Given the description of an element on the screen output the (x, y) to click on. 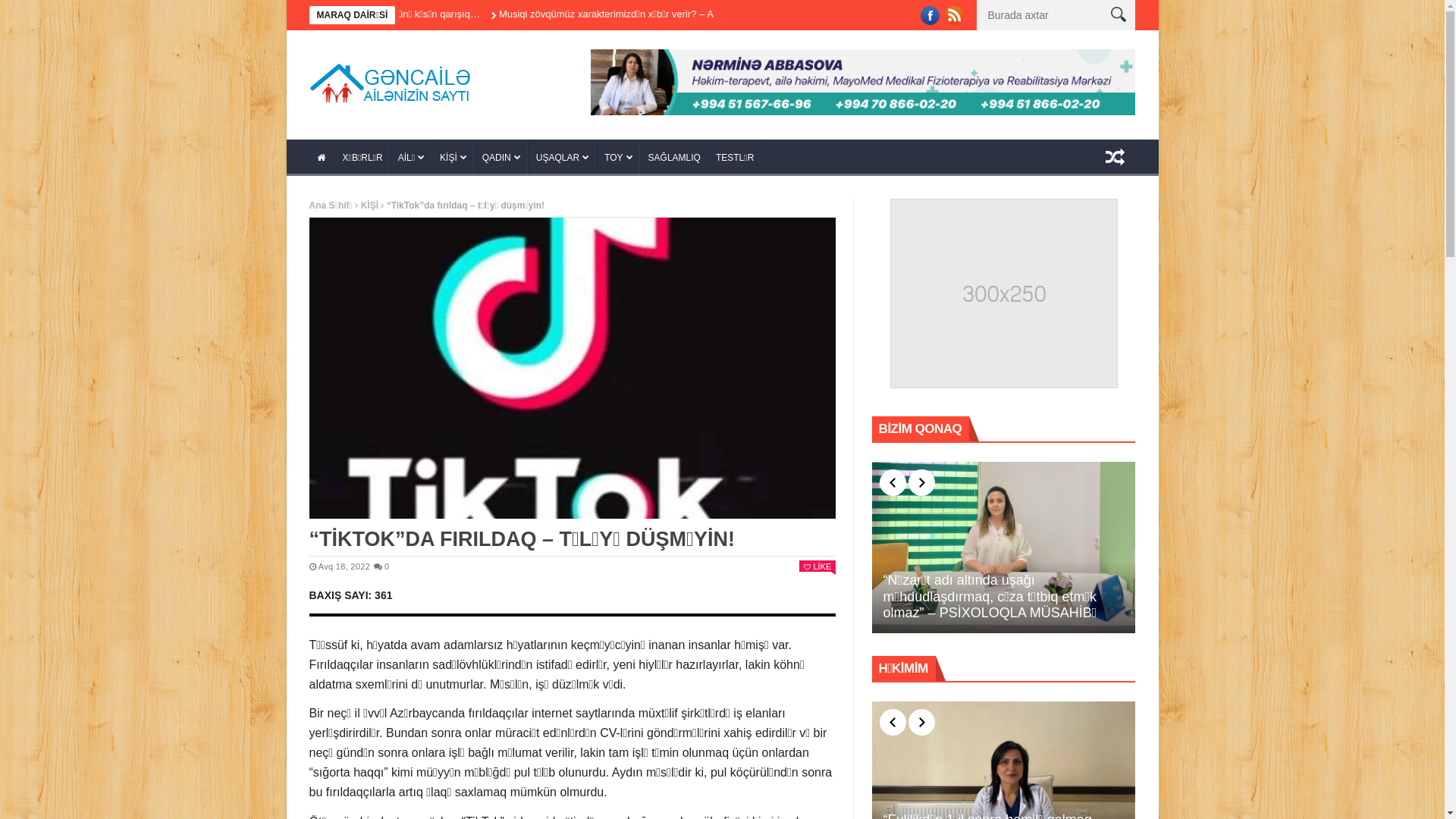
QADIN Element type: text (501, 157)
LIKE Element type: text (817, 566)
TOY Element type: text (618, 157)
0 Element type: text (381, 566)
